Given the description of an element on the screen output the (x, y) to click on. 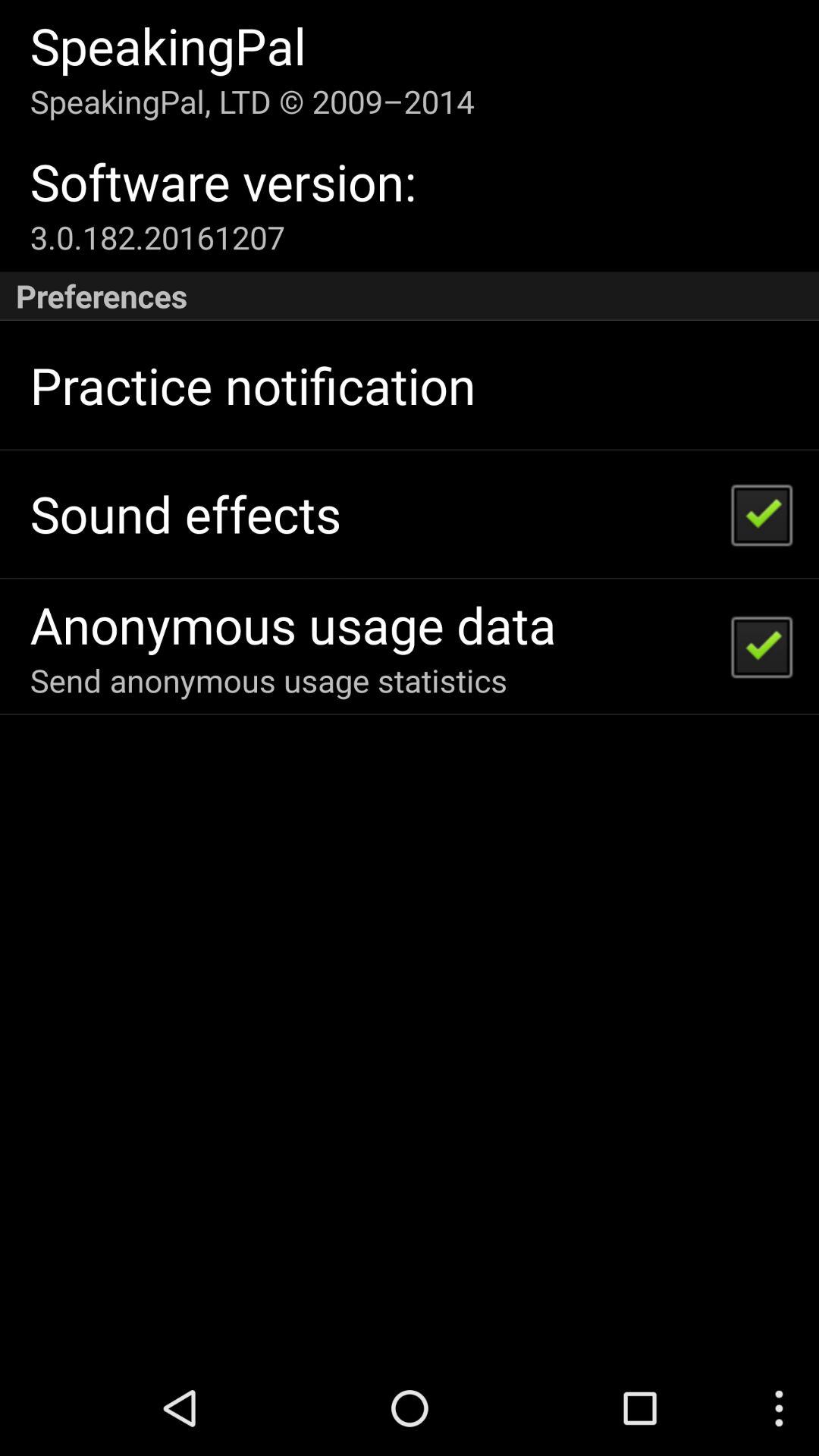
turn off the 3 0 182 item (157, 236)
